Given the description of an element on the screen output the (x, y) to click on. 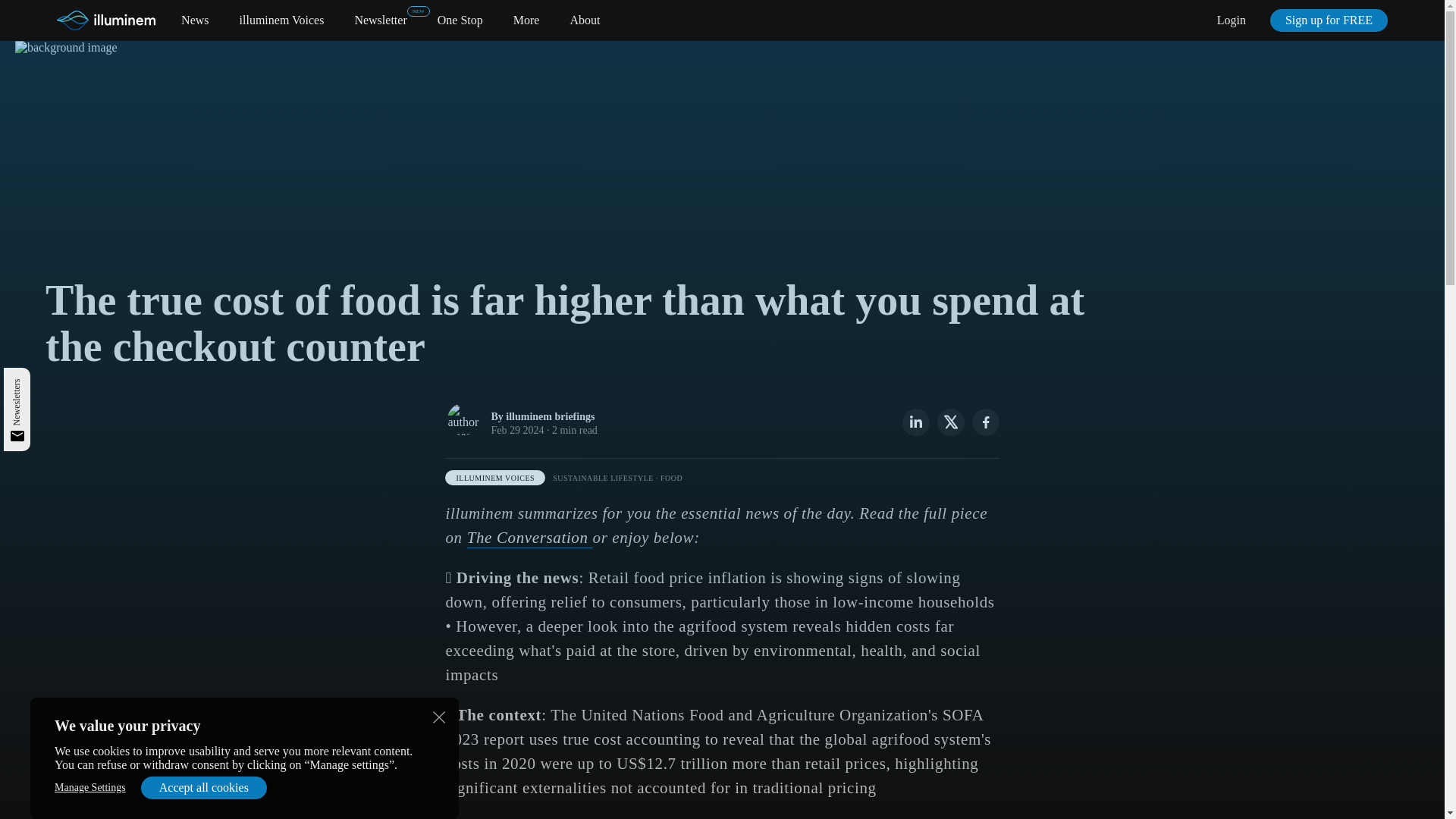
illuminem briefings (549, 416)
Newesletters (34, 383)
News (194, 19)
One Stop (460, 19)
The Conversation (529, 537)
ILLUMINEM VOICES (494, 477)
About (584, 19)
Accept all cookies (203, 787)
Login (1231, 20)
SUSTAINABLE LIFESTYLE (603, 477)
